Given the description of an element on the screen output the (x, y) to click on. 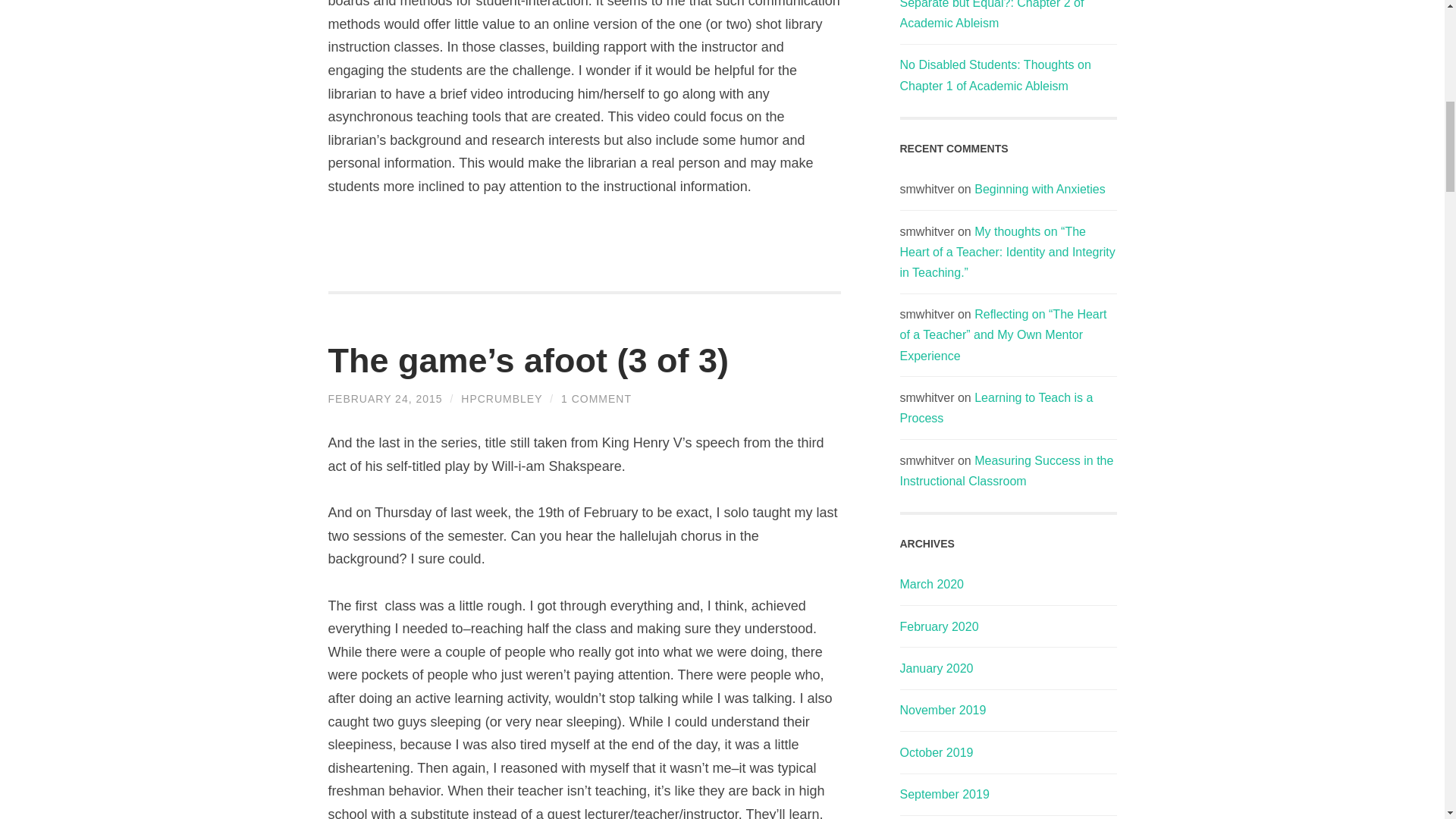
January 2020 (935, 667)
1 COMMENT (595, 398)
Learning to Teach is a Process (996, 408)
October 2019 (935, 752)
February 2020 (938, 626)
September 2019 (943, 793)
March 2020 (931, 584)
HPCRUMBLEY (501, 398)
Beginning with Anxieties (1039, 188)
Measuring Success in the Instructional Classroom (1006, 470)
Separate but Equal?: Chapter 2 of Academic Ableism (991, 14)
November 2019 (942, 709)
